Given the description of an element on the screen output the (x, y) to click on. 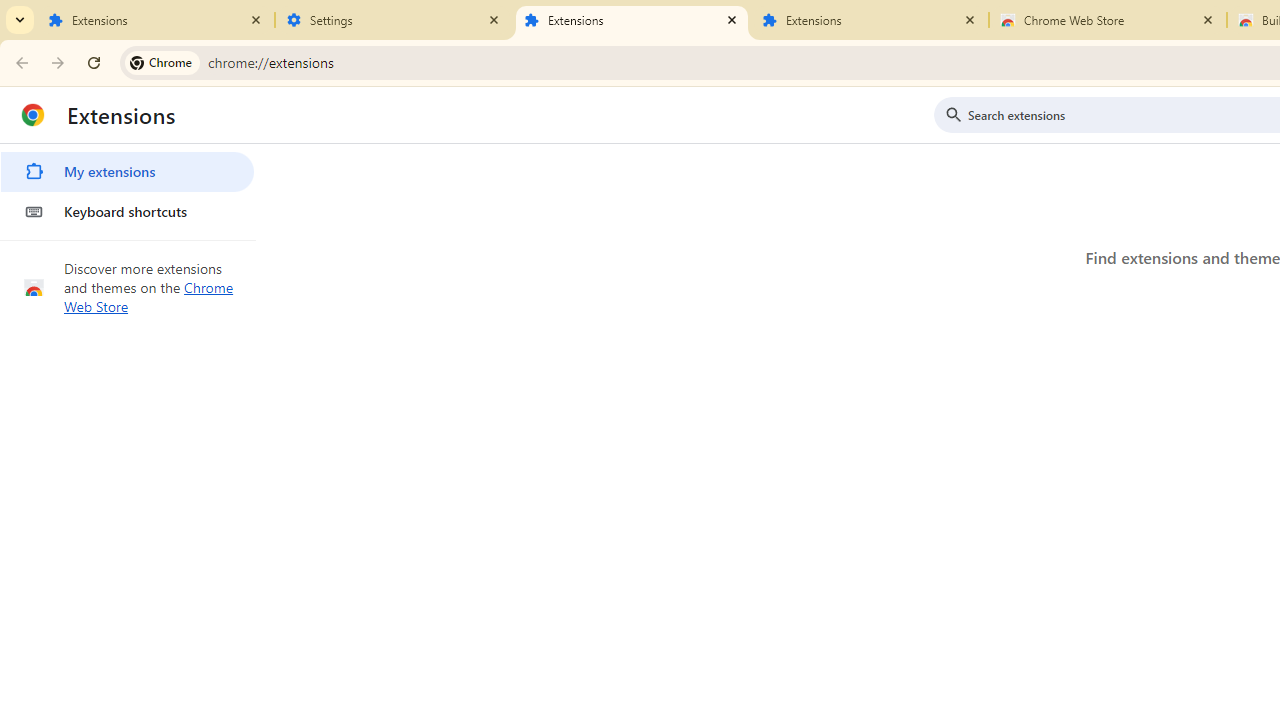
Chrome Web Store (149, 296)
